Given the description of an element on the screen output the (x, y) to click on. 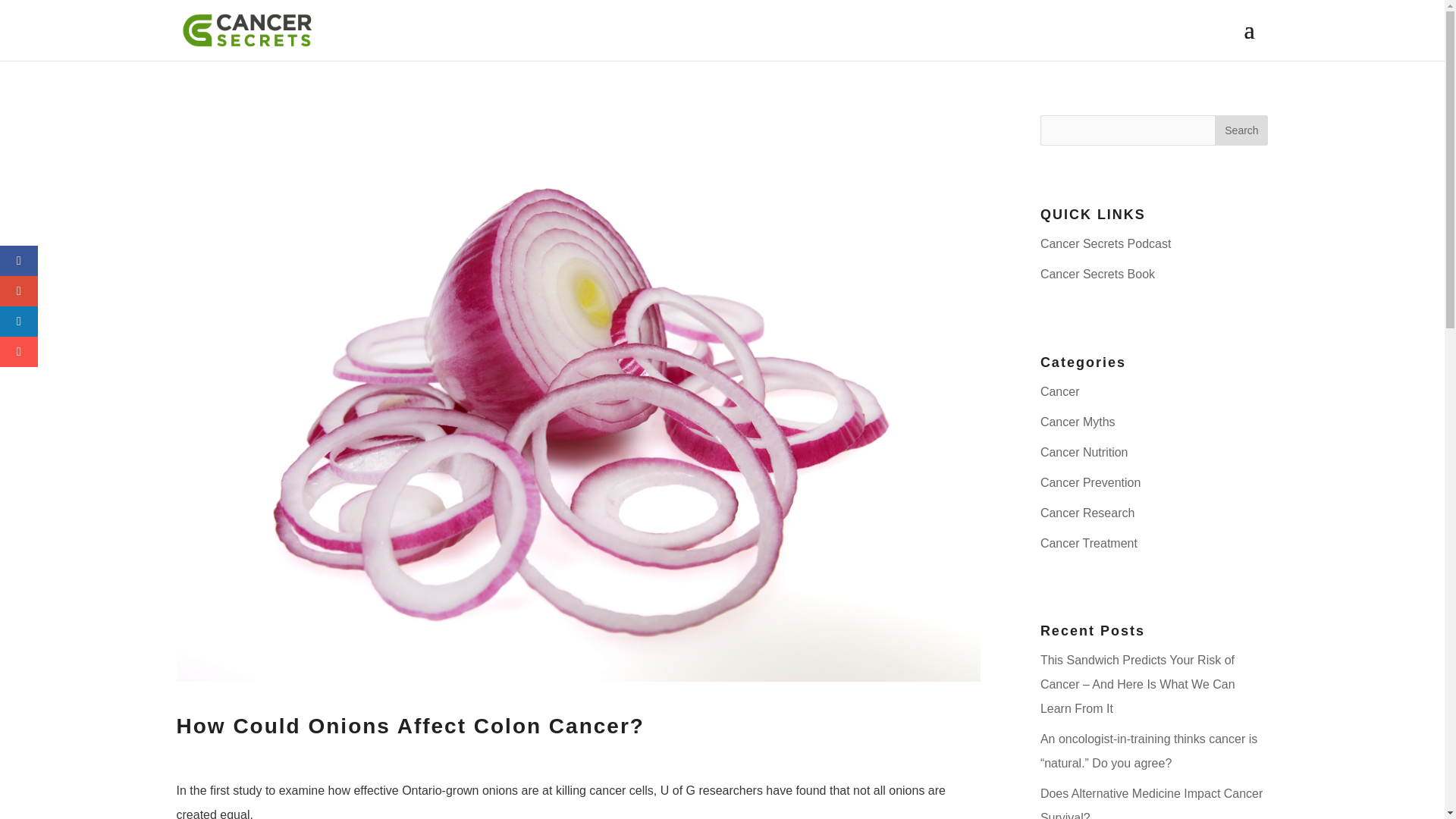
Cancer Myths (1078, 421)
Cancer Treatment (1089, 543)
Cancer Secrets Book (1097, 273)
Search (1241, 130)
Cancer Secrets Podcast (1106, 243)
Cancer Research (1088, 512)
Cancer (1060, 391)
Cancer Nutrition (1084, 451)
Cancer Prevention (1091, 481)
